Given the description of an element on the screen output the (x, y) to click on. 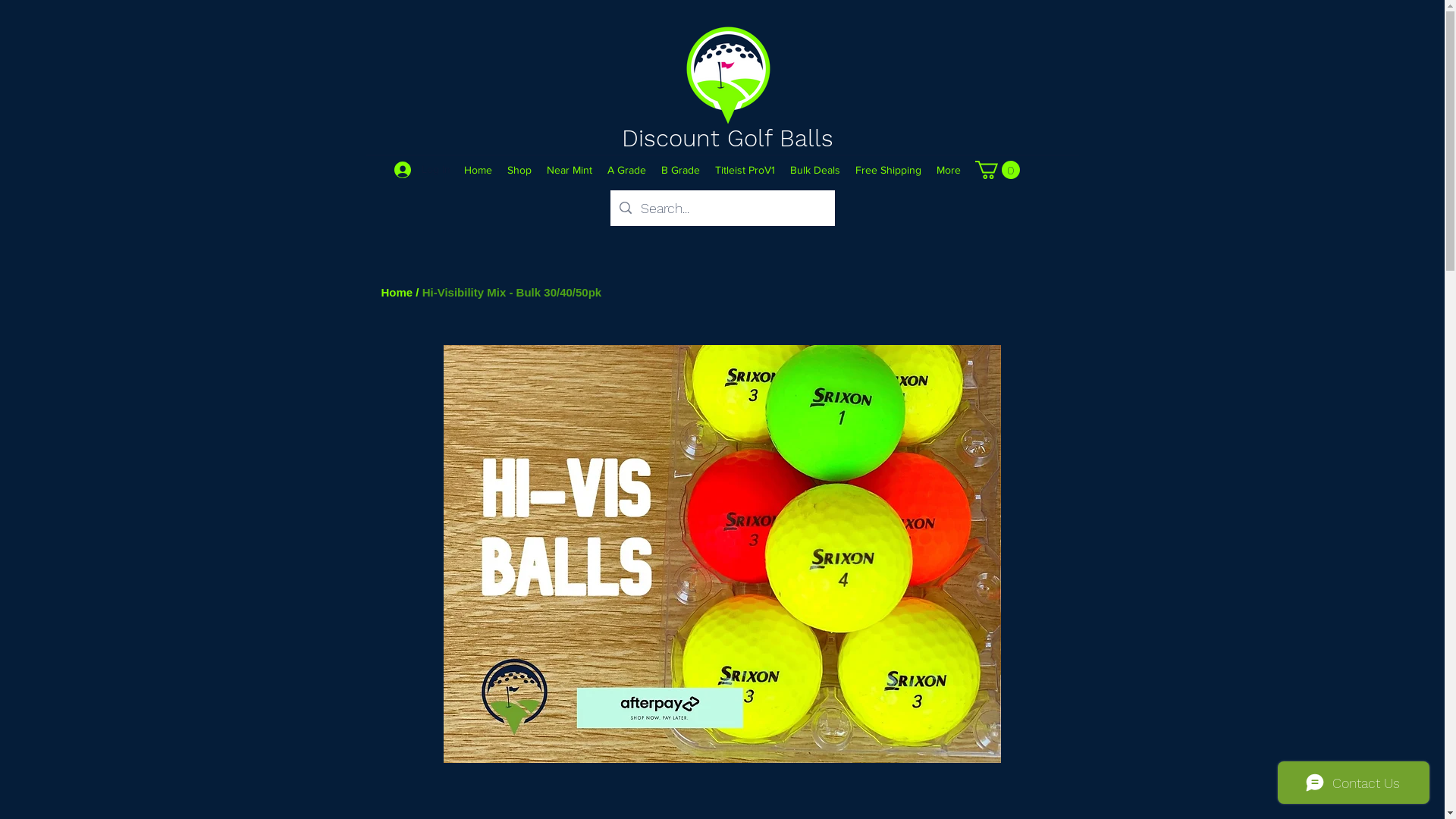
B Grade Element type: text (680, 169)
A Grade Element type: text (626, 169)
Hi-Visibility Mix - Bulk 30/40/50pk Element type: text (511, 291)
Home Element type: text (396, 291)
Shop Element type: text (519, 169)
0 Element type: text (997, 169)
Near Mint Element type: text (569, 169)
Titleist ProV1 Element type: text (744, 169)
Free Shipping Element type: text (887, 169)
Home Element type: text (477, 169)
Log In Element type: text (417, 169)
Bulk Deals Element type: text (814, 169)
